Given the description of an element on the screen output the (x, y) to click on. 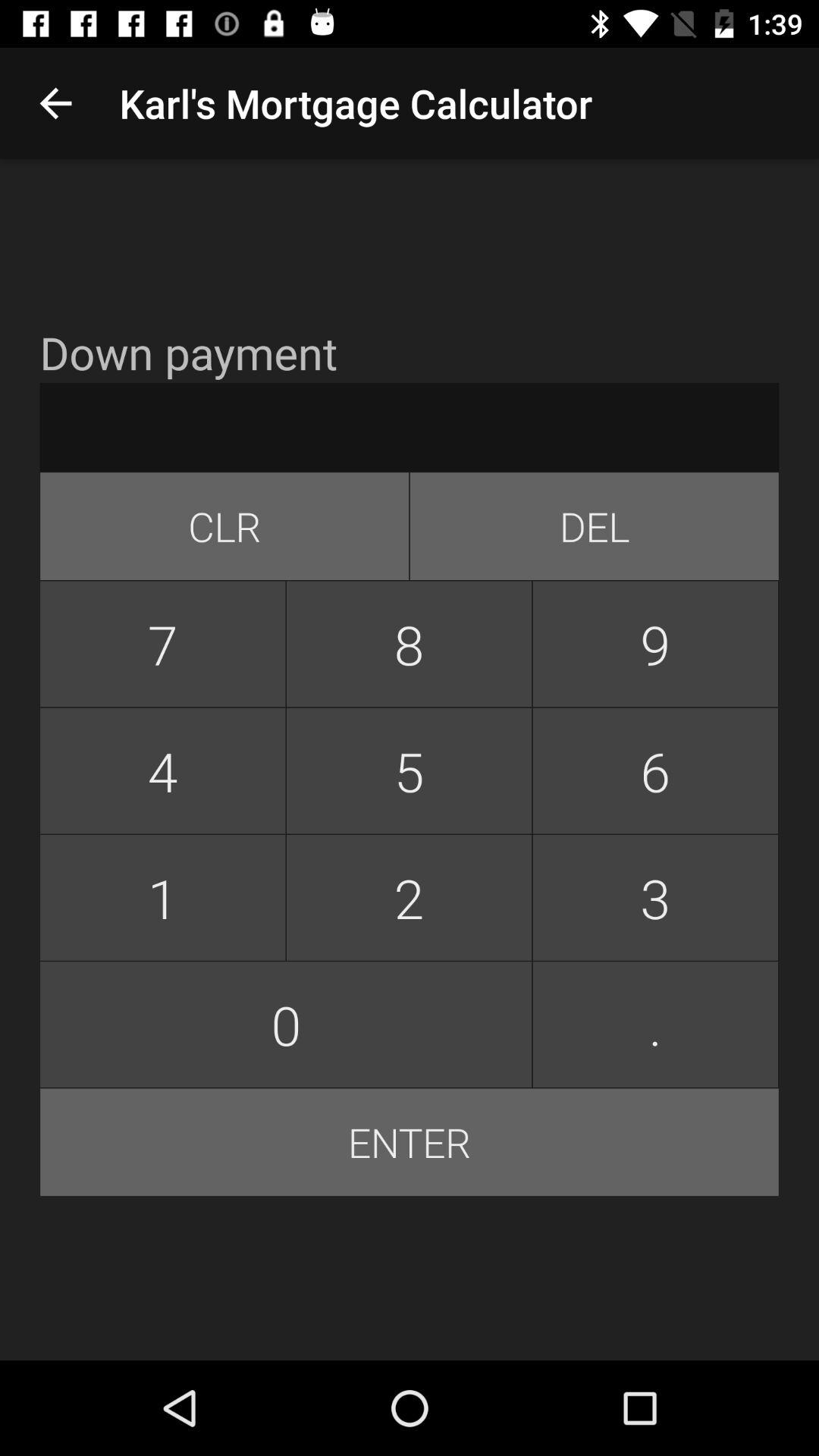
jump to the 2 (408, 897)
